Given the description of an element on the screen output the (x, y) to click on. 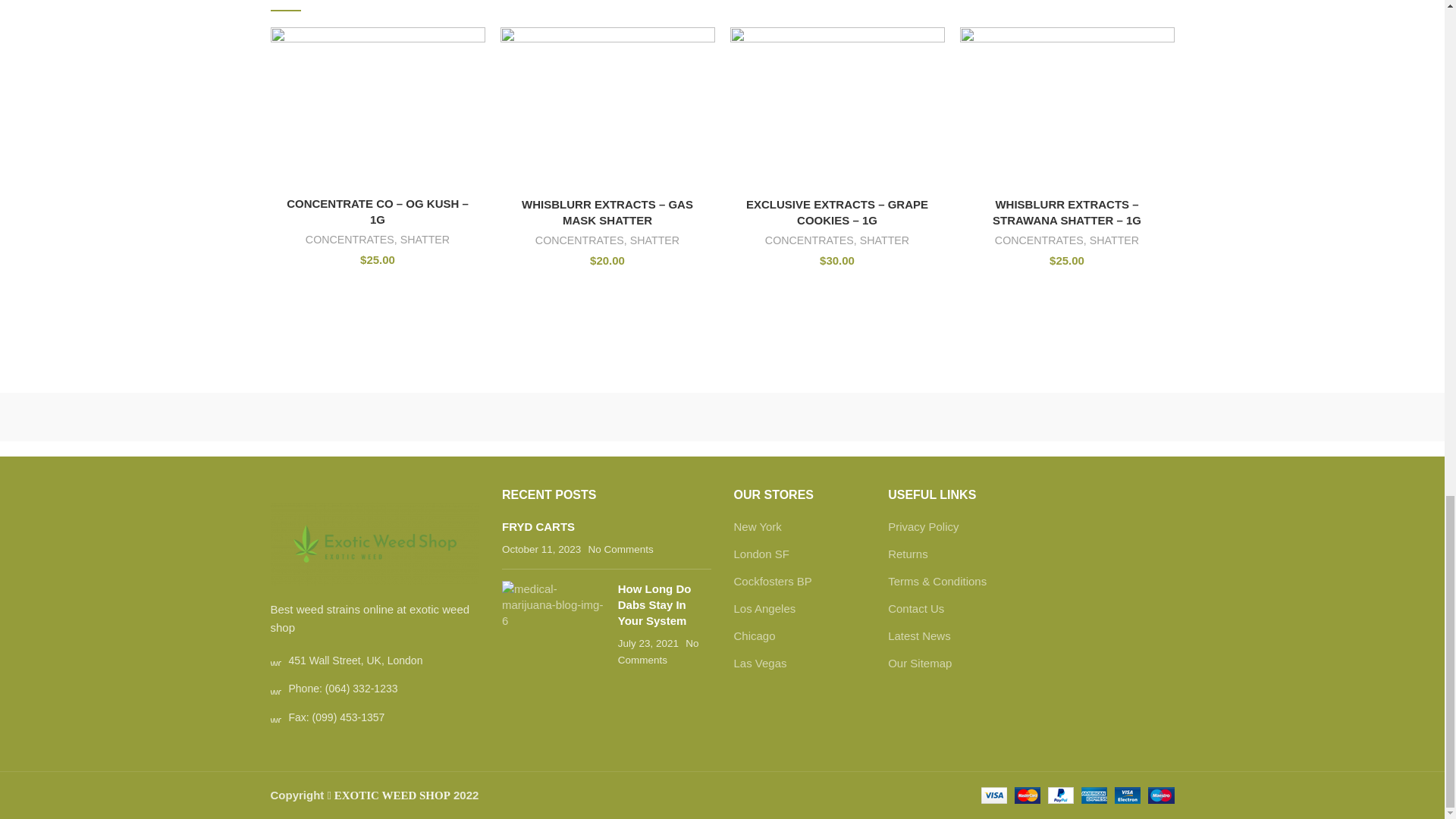
Permalink to FRYD CARTS (538, 526)
wd-envelope-light (275, 716)
wd-phone-light (275, 688)
wd-cursor-light (275, 660)
